Given the description of an element on the screen output the (x, y) to click on. 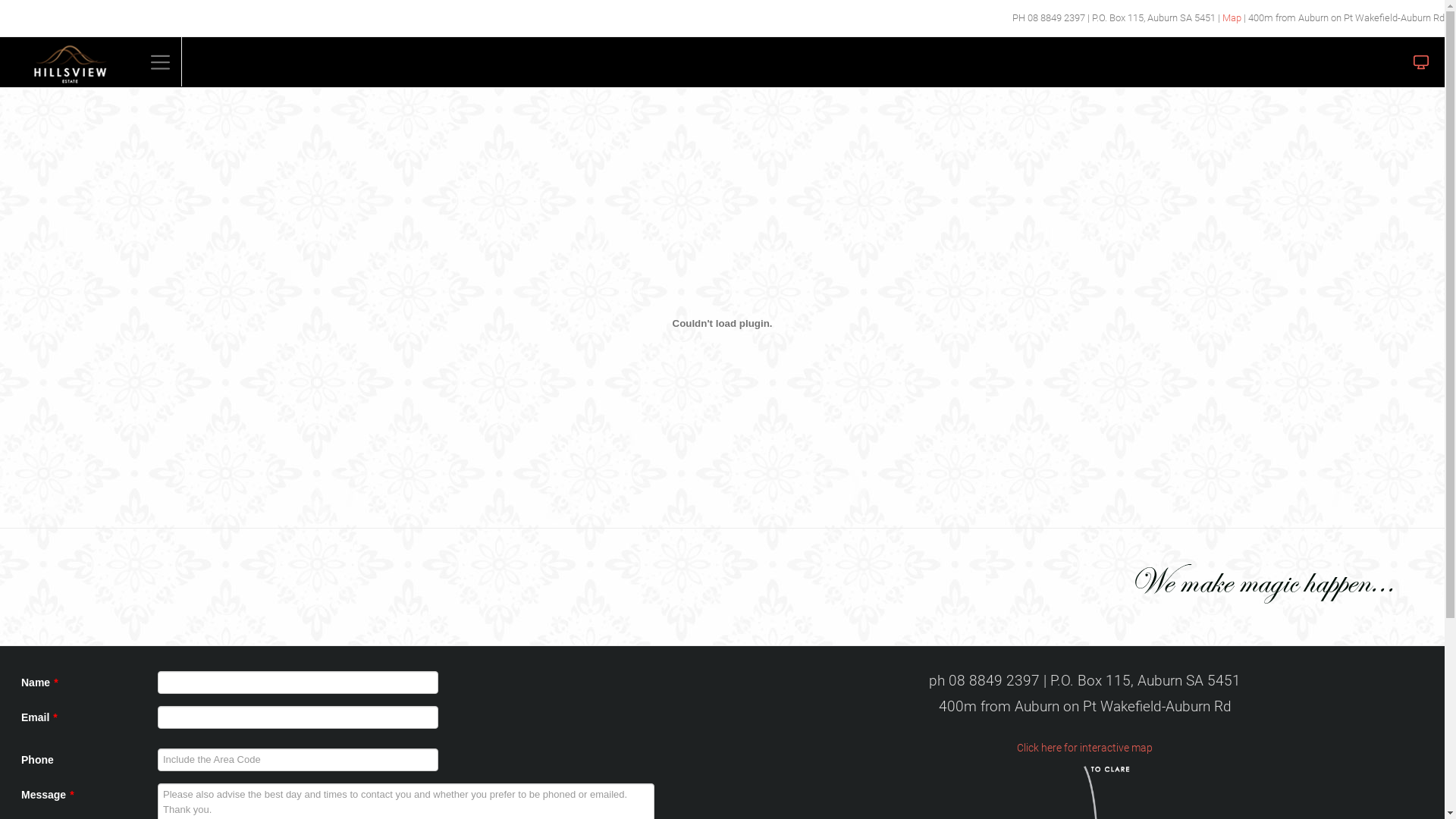
Click here for interactive map Element type: text (1084, 747)
Map Element type: text (1231, 17)
